Given the description of an element on the screen output the (x, y) to click on. 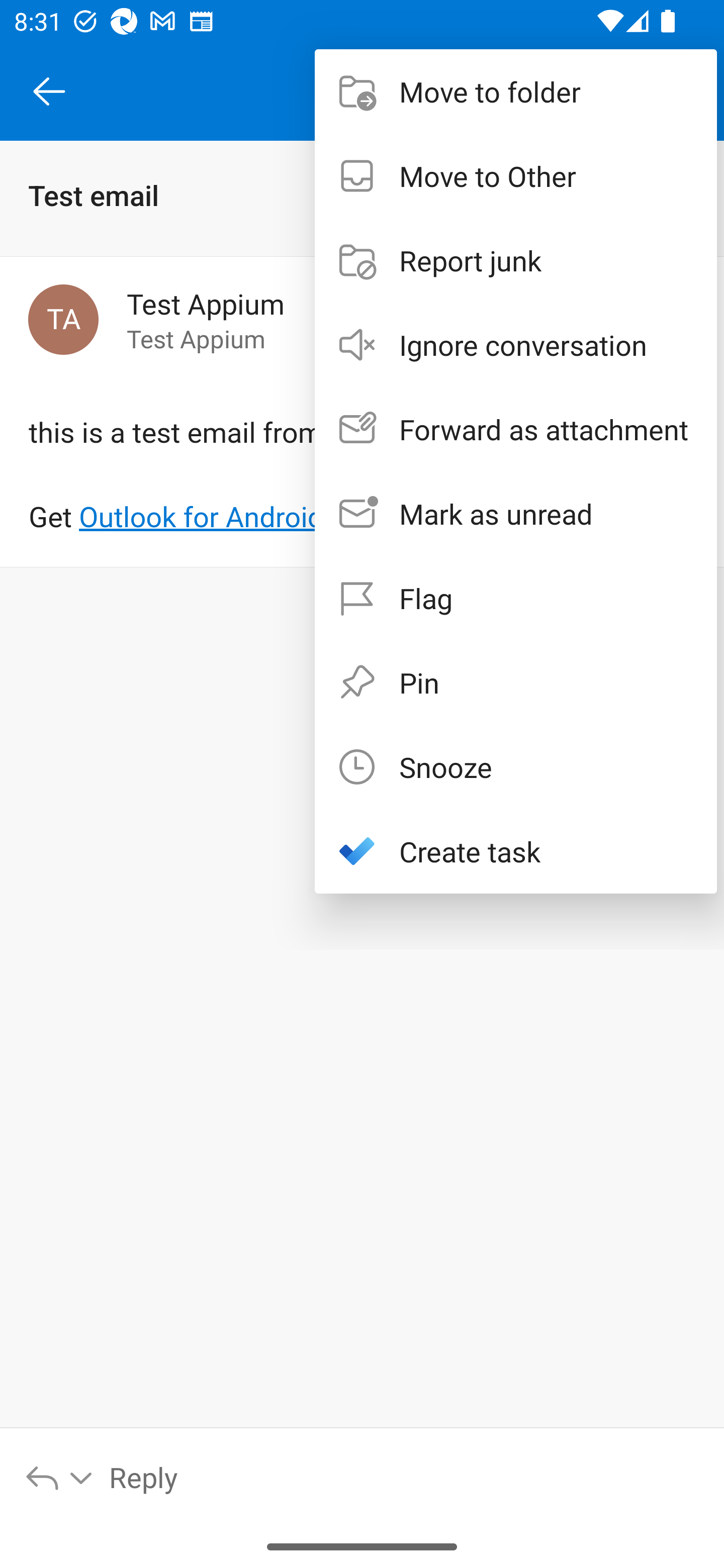
Move to folder (515, 90)
Move to Other (515, 175)
Report junk (515, 259)
Ignore conversation (515, 344)
Forward as attachment (515, 429)
Mark as unread (515, 513)
Flag (515, 597)
Pin (515, 681)
Snooze (515, 766)
Create task (515, 851)
